Given the description of an element on the screen output the (x, y) to click on. 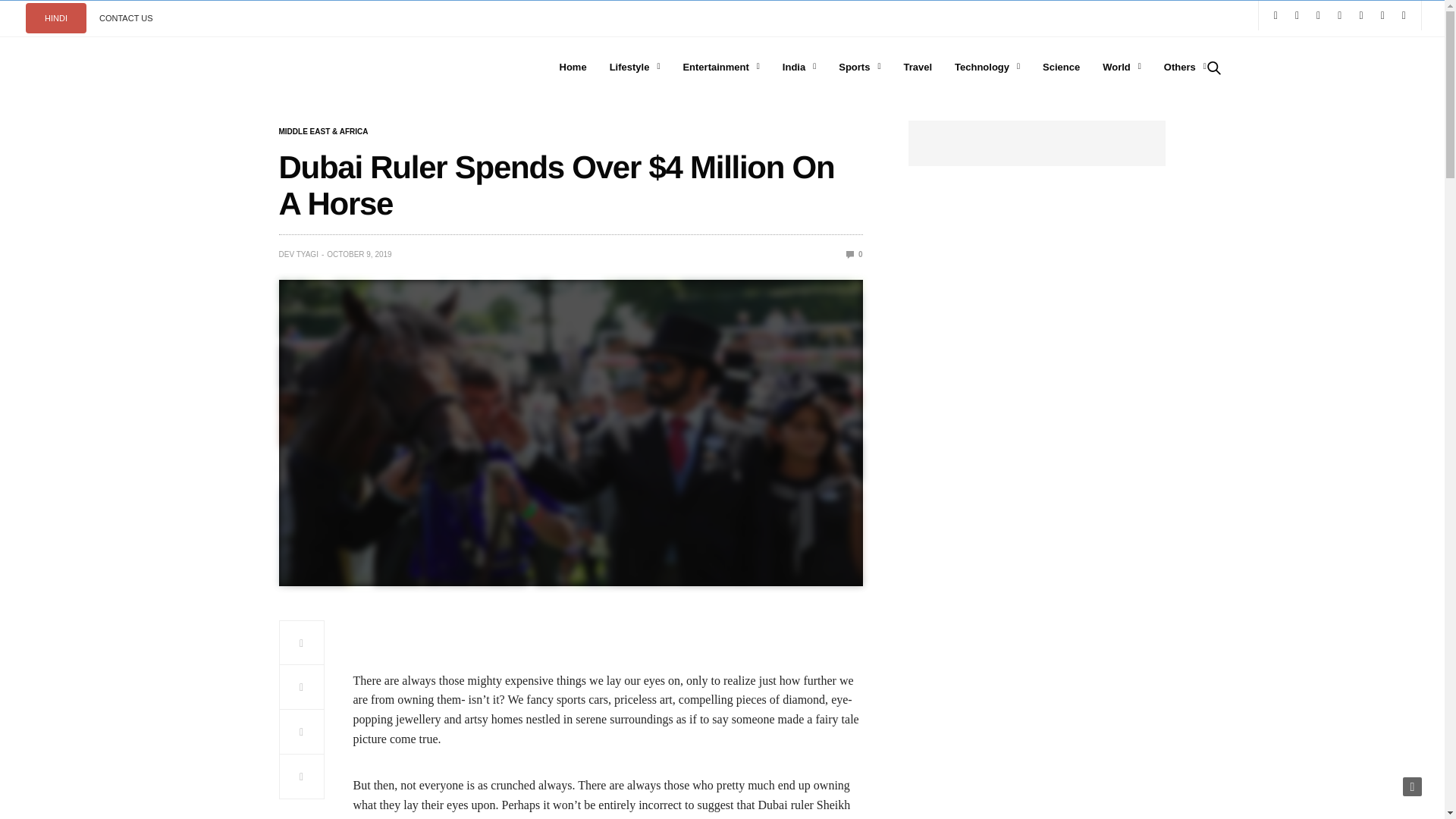
Home (572, 67)
Sports (859, 67)
CONTACT US (125, 18)
HINDI (55, 18)
Entertainment (720, 67)
India (799, 67)
Lifestyle (635, 67)
Posts by Dev Tyagi (298, 254)
